Given the description of an element on the screen output the (x, y) to click on. 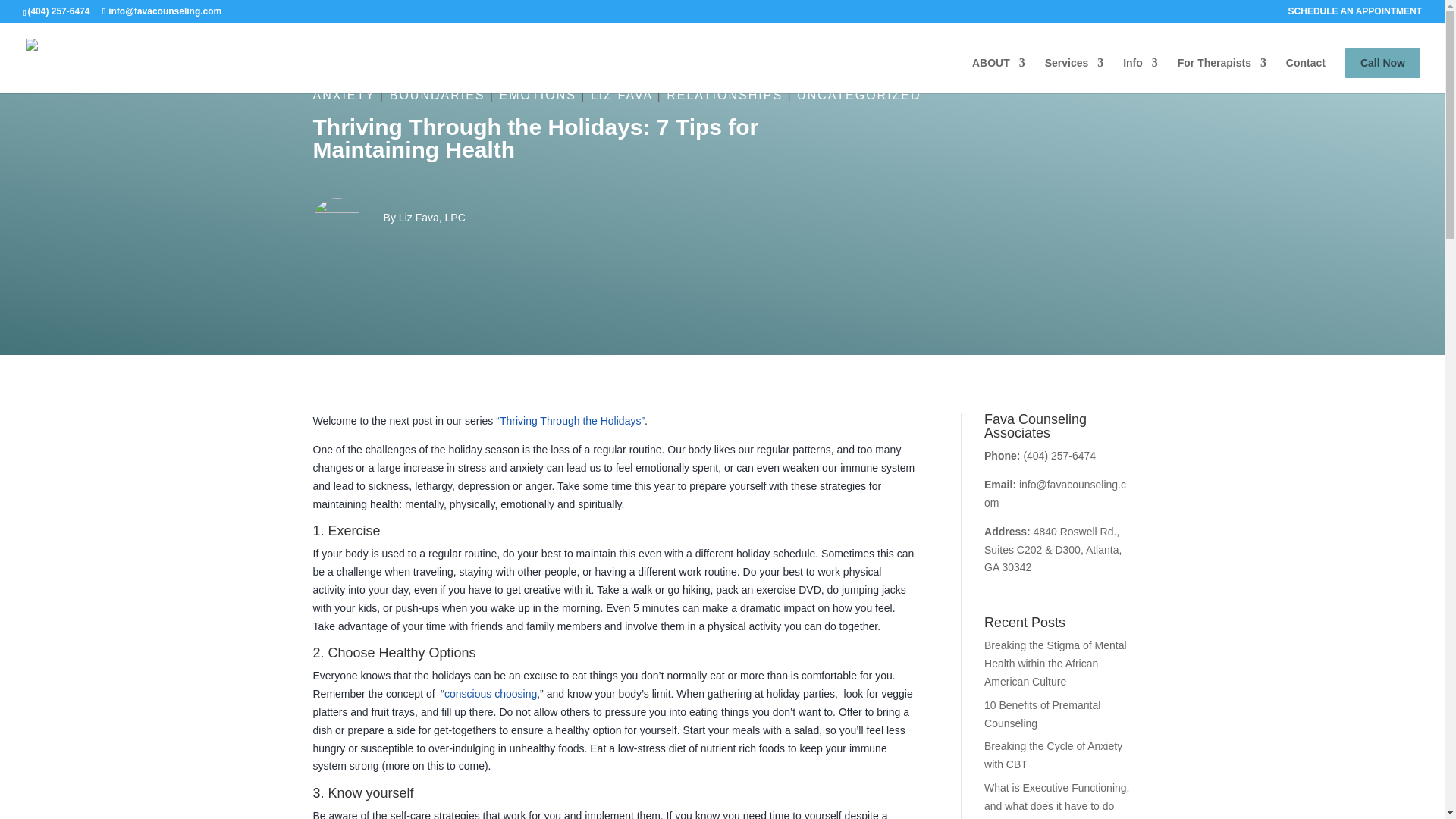
Info (1139, 75)
Call Now (1383, 62)
ABOUT (998, 75)
ANXIETY (343, 94)
SCHEDULE AN APPOINTMENT (1355, 14)
Thriving Through the Holidays (570, 420)
For Therapists (1221, 75)
Services (1074, 75)
Thriving Through the Holidays: Conscious Choosing (490, 693)
Contact (1304, 75)
